Given the description of an element on the screen output the (x, y) to click on. 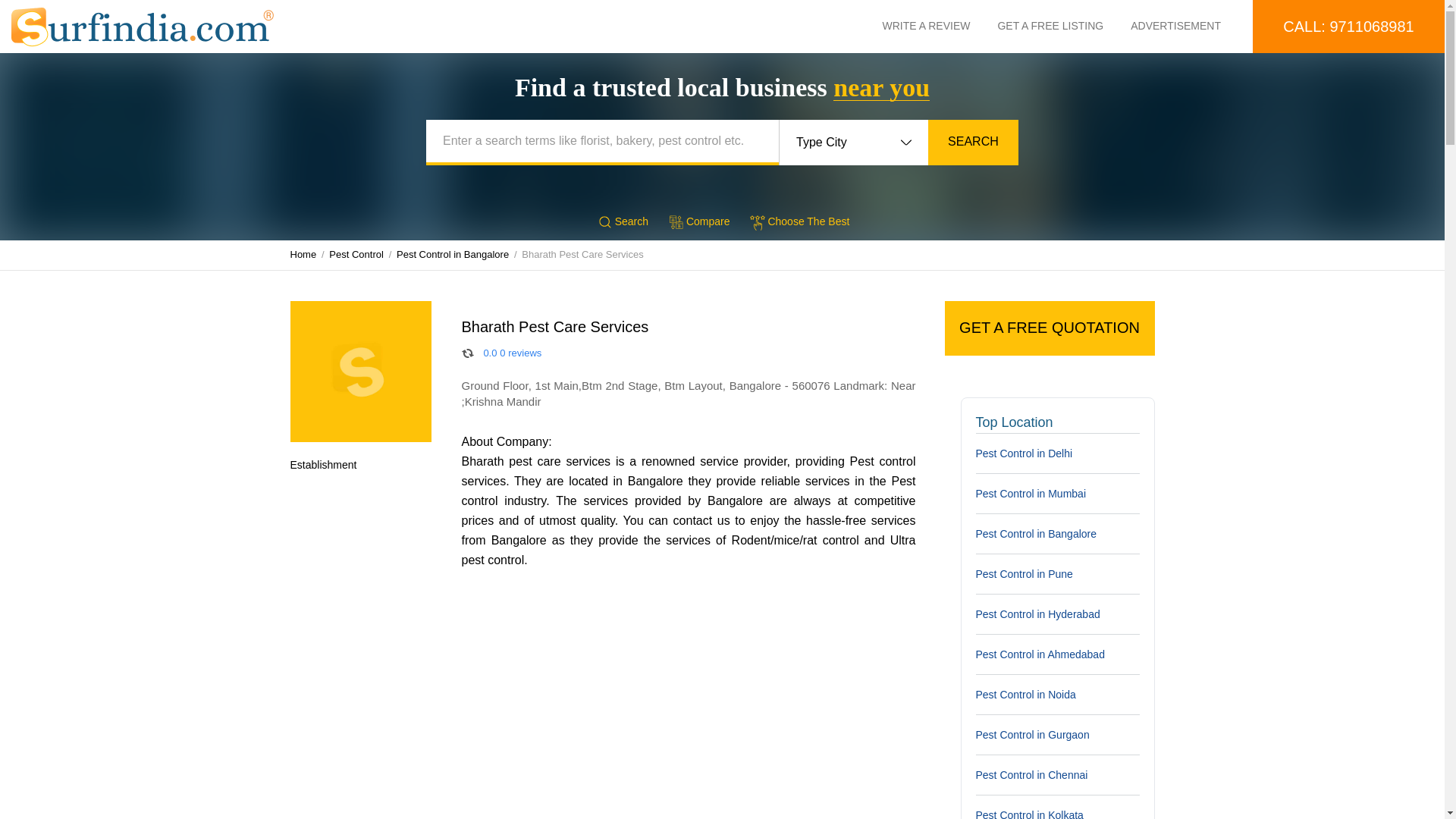
Choose The Best (798, 221)
Pest Control in Ahmedabad (1056, 653)
ADVERTISEMENT (1189, 26)
Pest Control in Kolkata (1056, 806)
SEARCH (972, 142)
Pest Control in Hyderabad (1056, 613)
WRITE A REVIEW (939, 26)
Compare (698, 221)
Pest Control in Bangalore (1056, 533)
Search (622, 221)
